Given the description of an element on the screen output the (x, y) to click on. 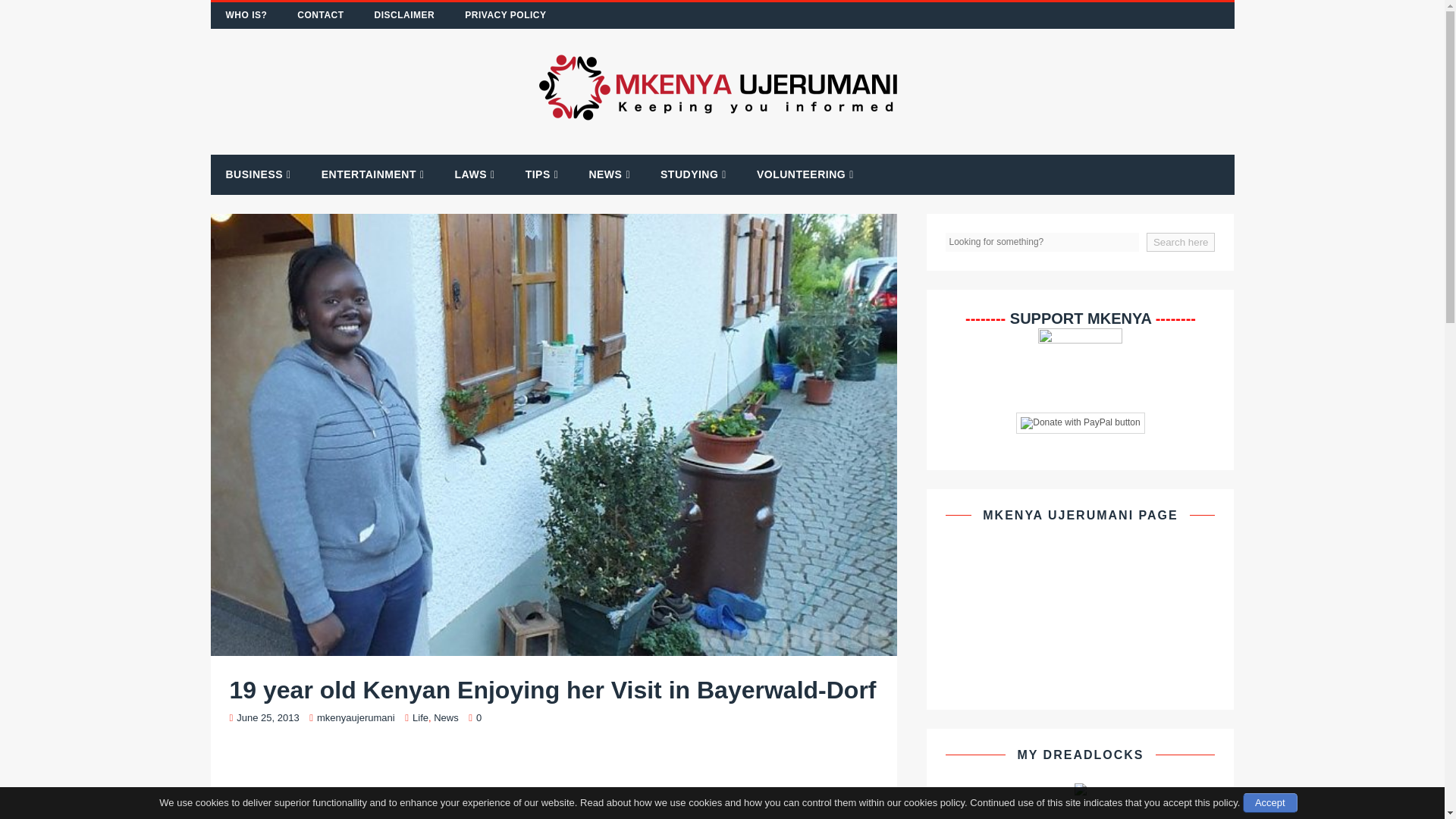
PayPal - The safer, easier way to pay online! (1080, 423)
Advertisement (552, 782)
PRIVACY POLICY (504, 15)
CONTACT (320, 15)
WHO IS? (246, 15)
DISCLAIMER (404, 15)
